Given the description of an element on the screen output the (x, y) to click on. 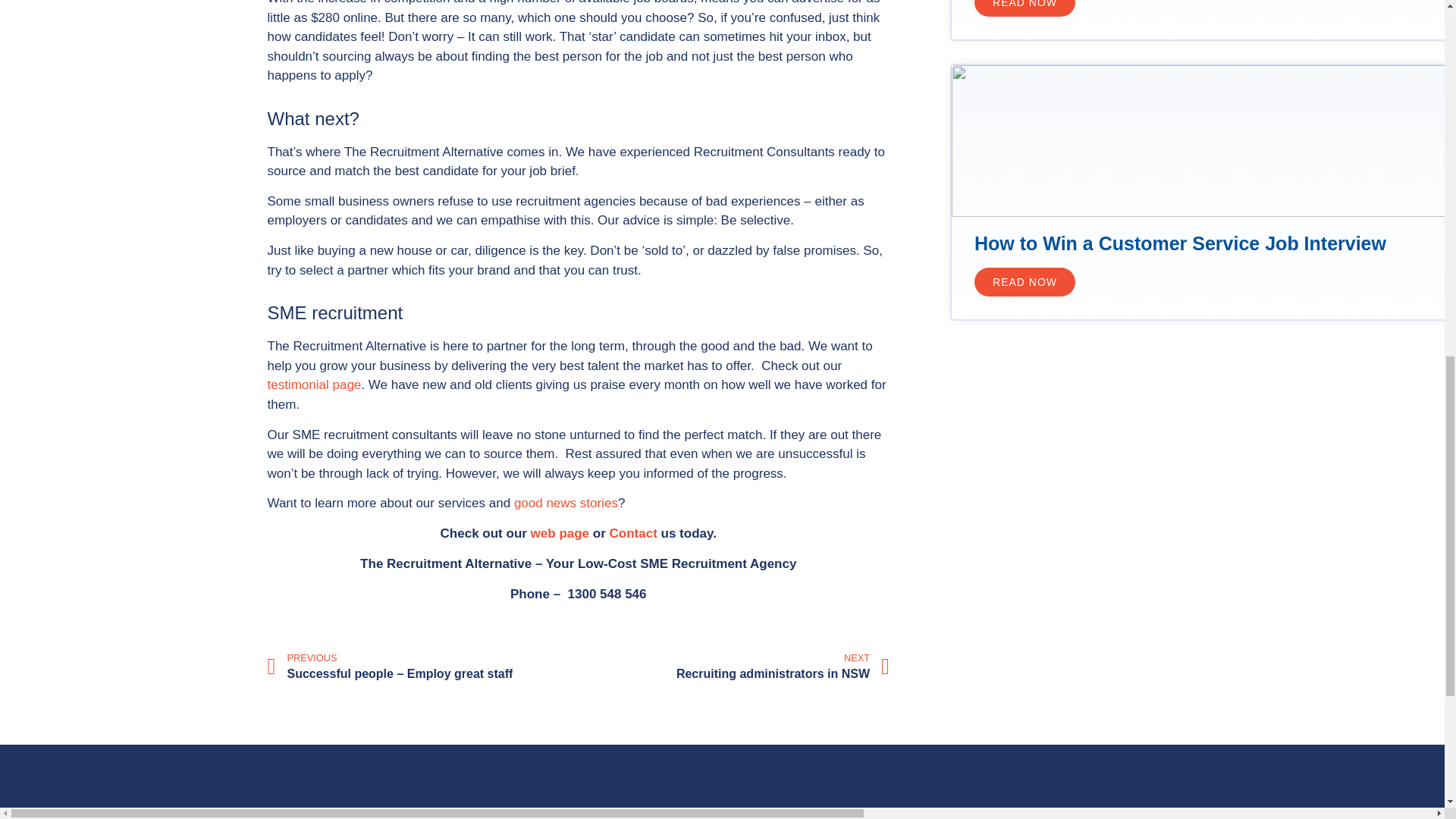
good news stories (565, 503)
Contact (634, 533)
READ NOW (1024, 281)
web page (735, 666)
READ NOW (560, 533)
testimonial page (1024, 8)
How to Win a Customer Service Job Interview (313, 384)
